Given the description of an element on the screen output the (x, y) to click on. 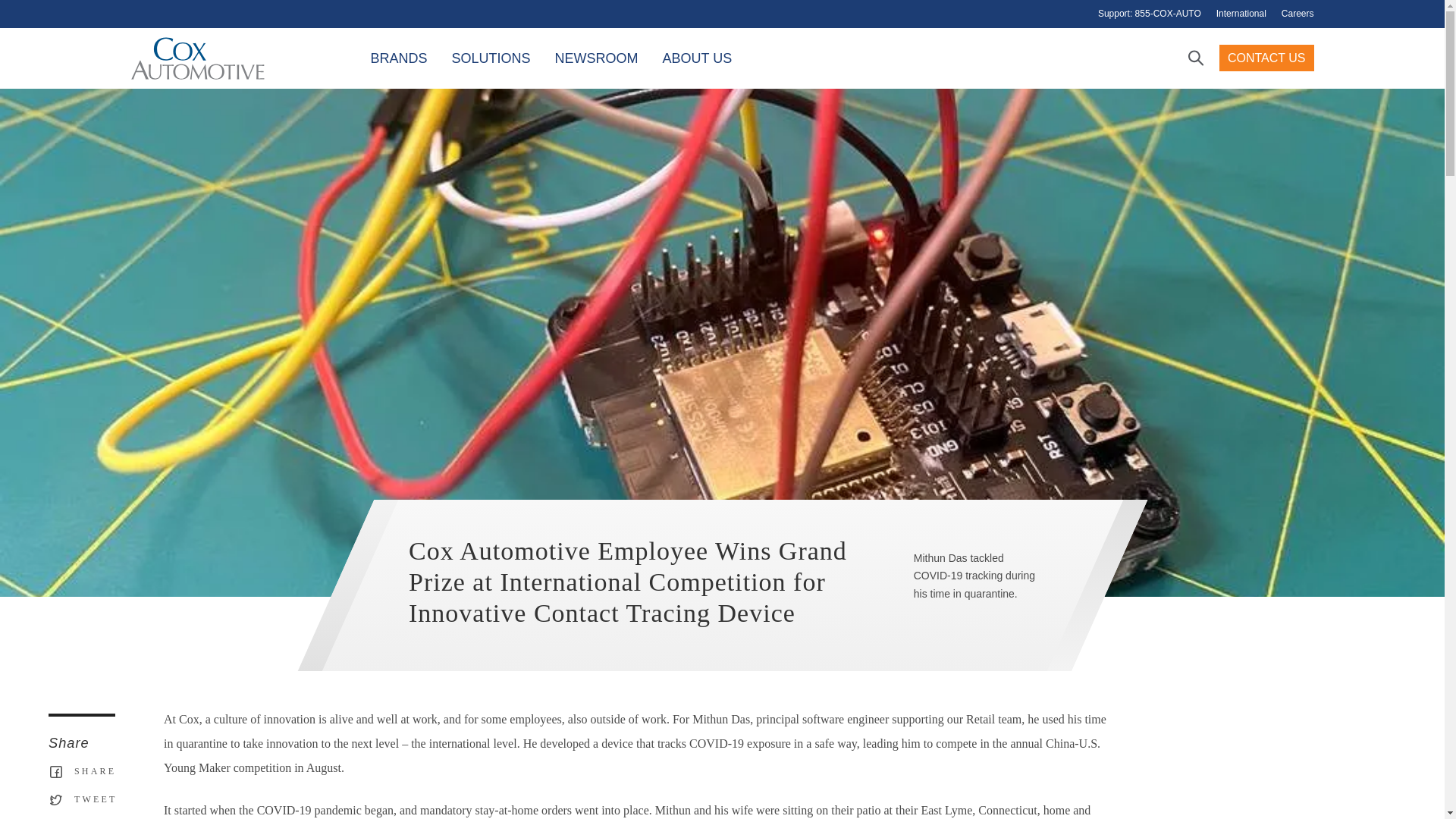
Support: 855-COX-AUTO (1149, 13)
Careers (1297, 13)
SOLUTIONS (491, 57)
BRANDS (398, 57)
Share on Twitter (81, 799)
International (1240, 13)
Share on Facebook (81, 771)
Search (1196, 57)
